Given the description of an element on the screen output the (x, y) to click on. 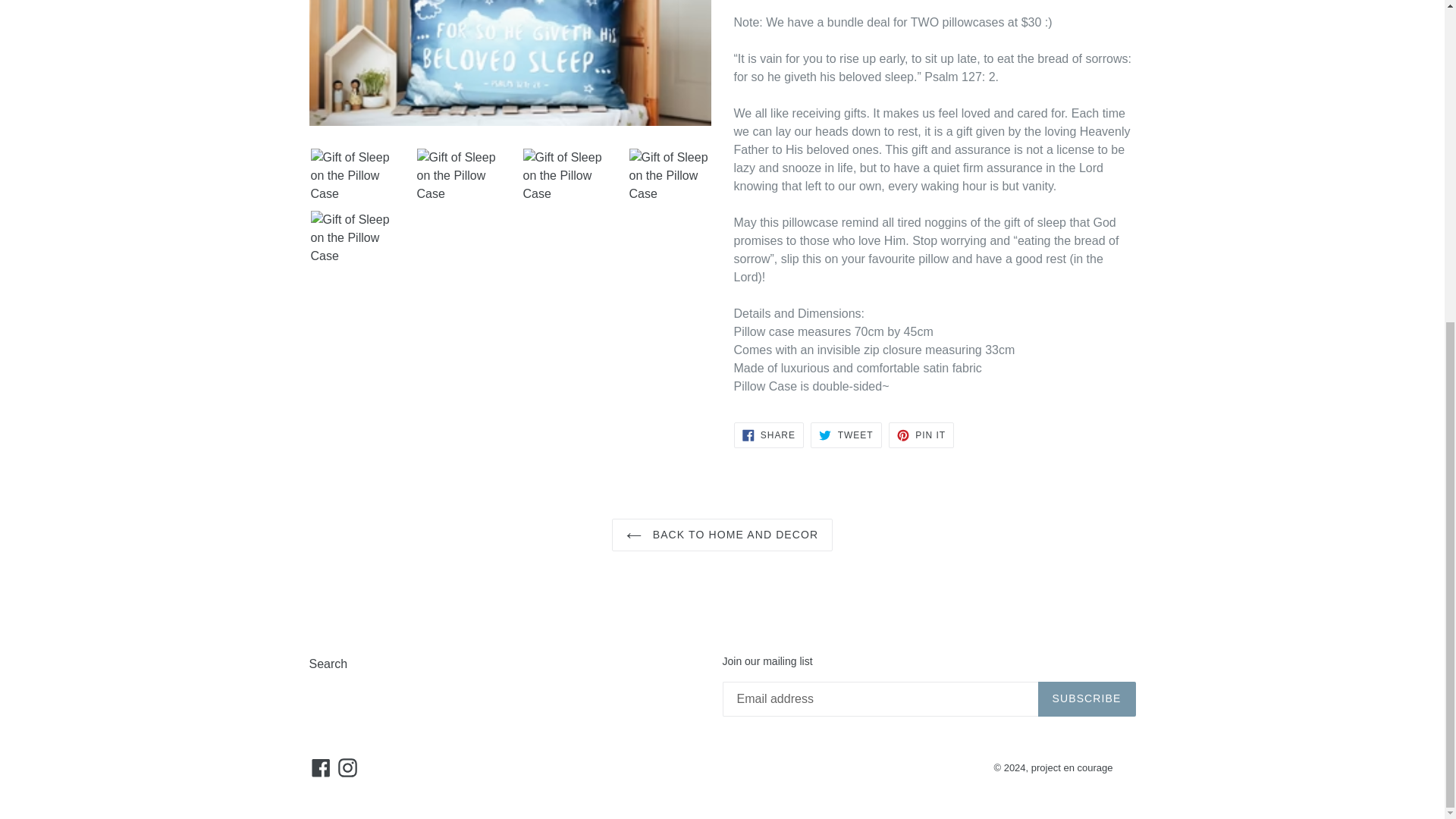
Search (327, 663)
Tweet on Twitter (845, 434)
project en courage on Facebook (320, 767)
project en courage on Instagram (347, 767)
BACK TO HOME AND DECOR (721, 534)
Pin on Pinterest (920, 434)
Share on Facebook (768, 434)
